Given the description of an element on the screen output the (x, y) to click on. 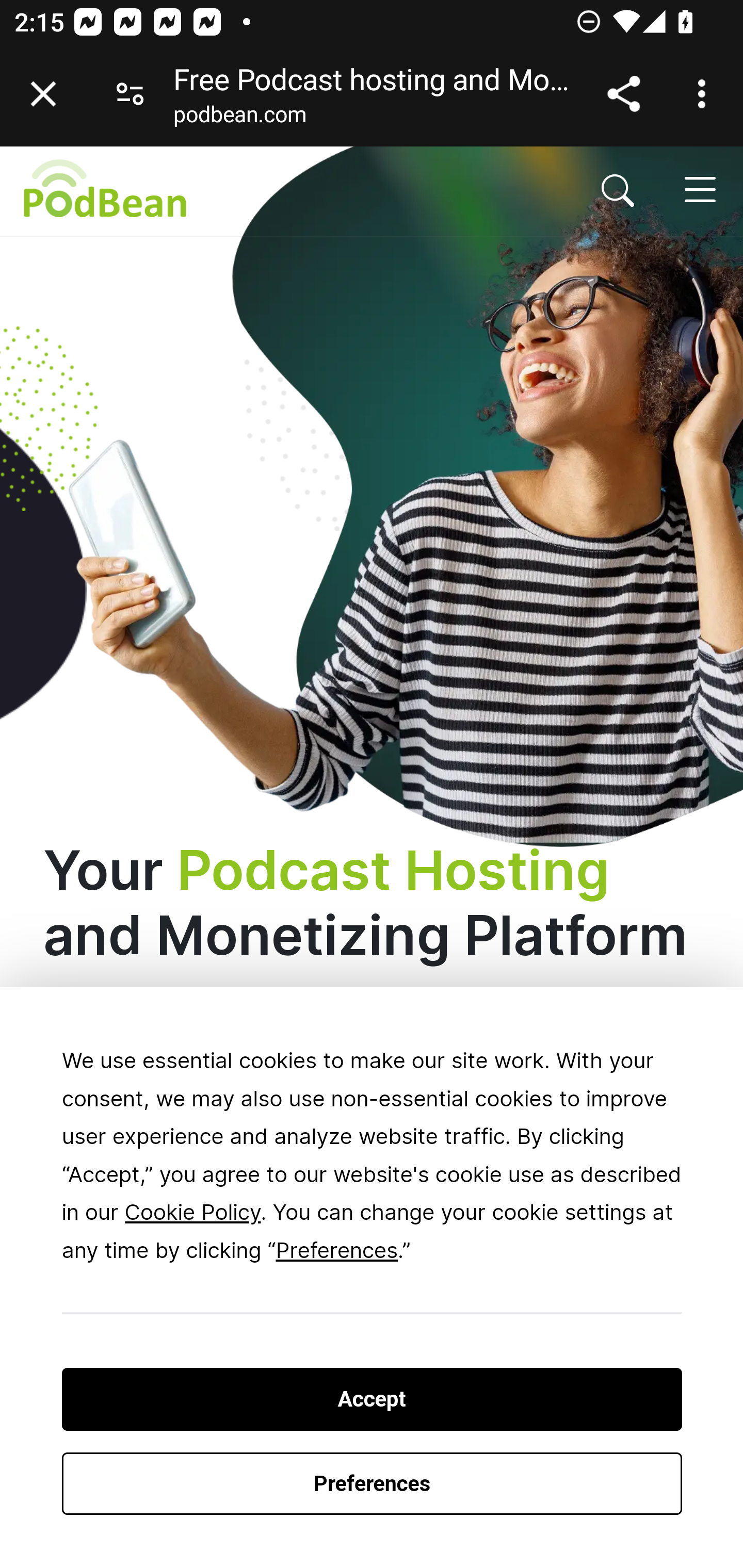
Close tab (43, 93)
Share link address (623, 93)
Customize and control Google Chrome (705, 93)
Connection is secure (129, 93)
podbean.com (239, 117)
podbean (251, 190)
Toggle navigation (699, 188)
 (618, 190)
Get Started For Free (232, 1251)
